Given the description of an element on the screen output the (x, y) to click on. 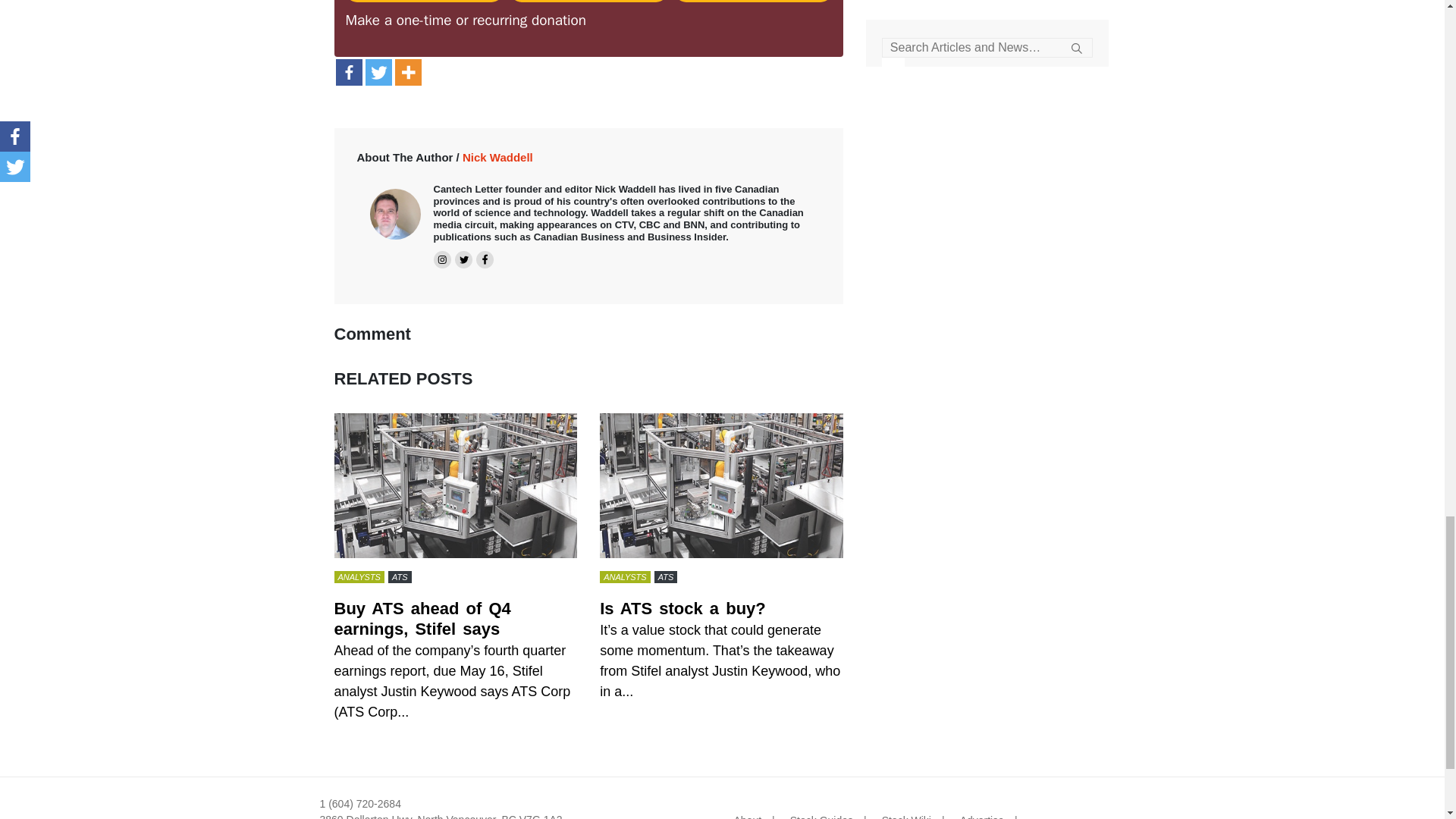
Twitter (378, 71)
Facebook (347, 71)
More (407, 71)
